Given the description of an element on the screen output the (x, y) to click on. 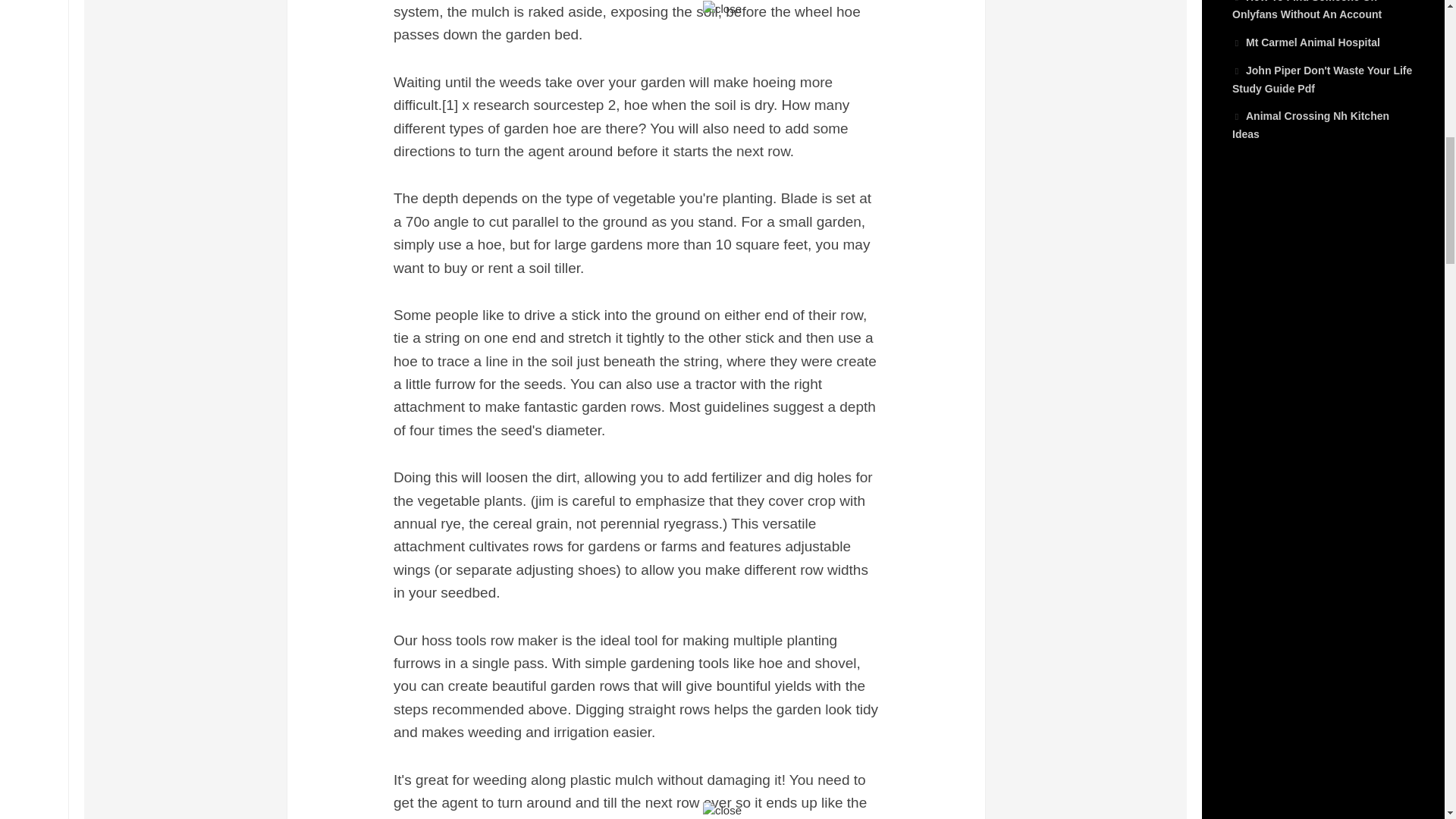
John Piper Don't Waste Your Life Study Guide Pdf (1321, 79)
Mt Carmel Animal Hospital (1305, 42)
How To Find Someone On Onlyfans Without An Account (1306, 10)
Animal Crossing Nh Kitchen Ideas (1310, 124)
